Given the description of an element on the screen output the (x, y) to click on. 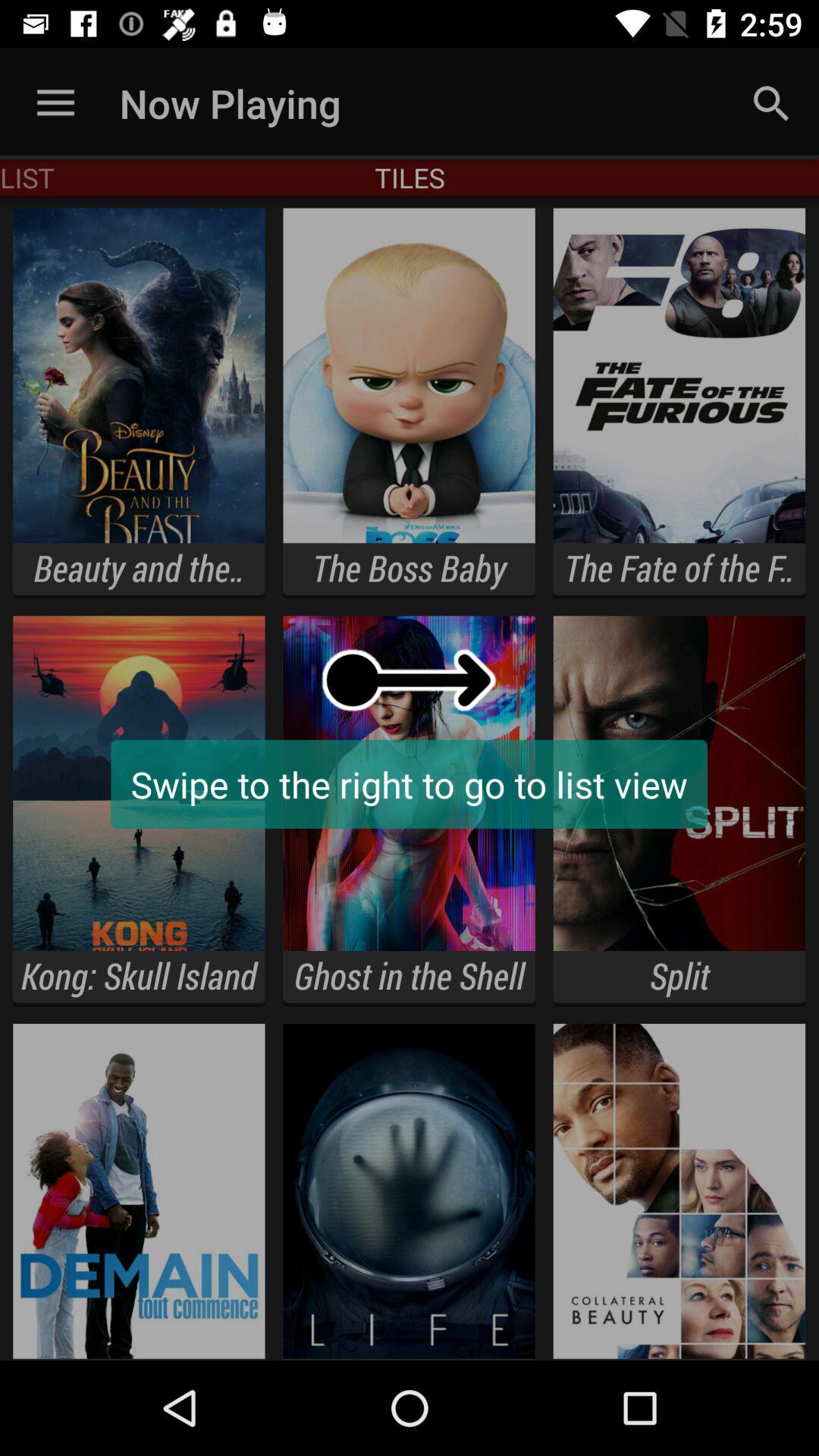
press icon to the right of the tiles app (771, 103)
